Given the description of an element on the screen output the (x, y) to click on. 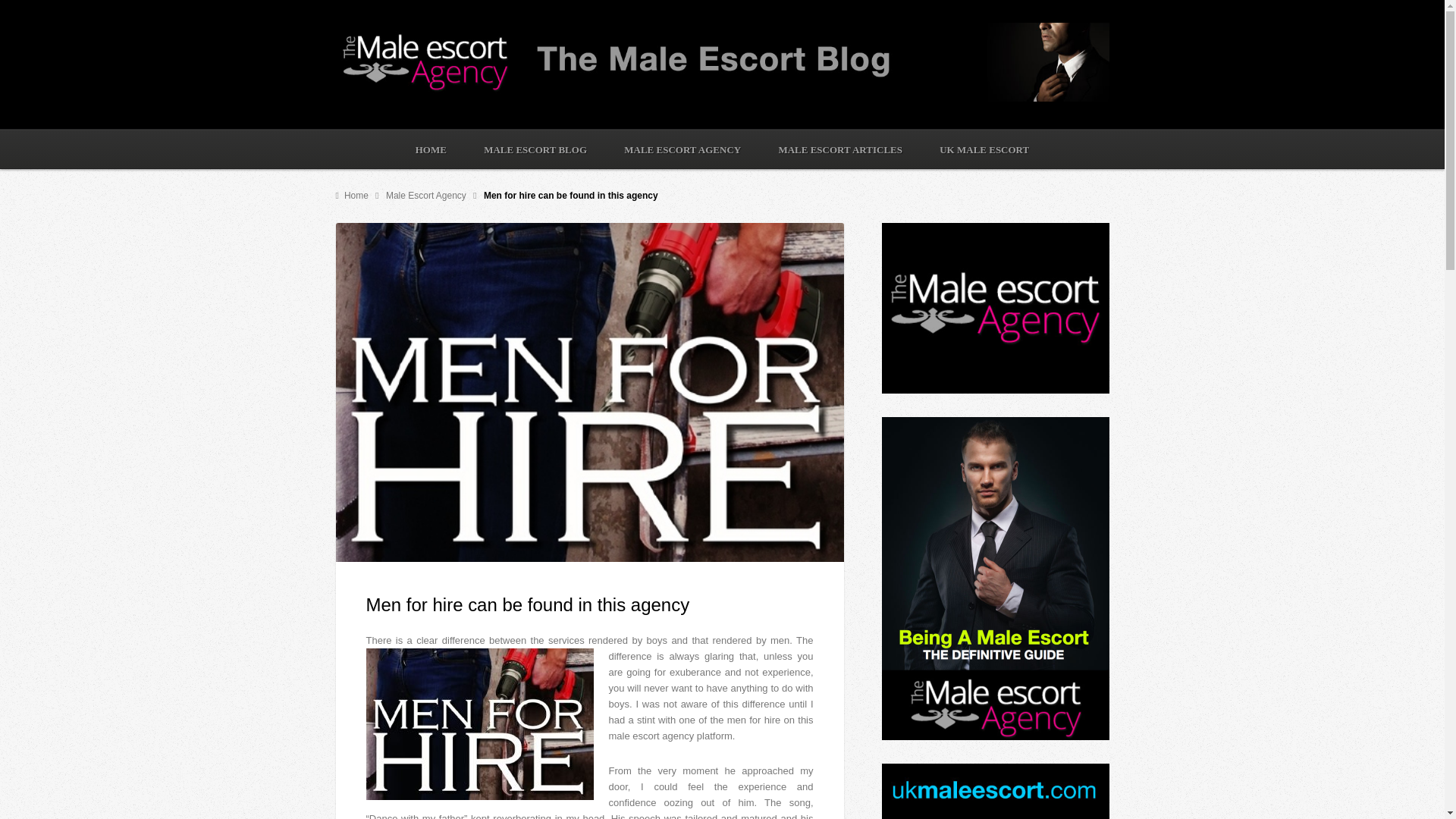
The Male Escort Blog (352, 195)
MALE ESCORT BLOG (534, 148)
UK MALE ESCORT (983, 148)
Male Escort Agency (426, 195)
MALE ESCORT AGENCY (682, 148)
HOME (430, 148)
Male Escort Agency (426, 195)
Home (352, 195)
MALE ESCORT ARTICLES (840, 148)
